Given the description of an element on the screen output the (x, y) to click on. 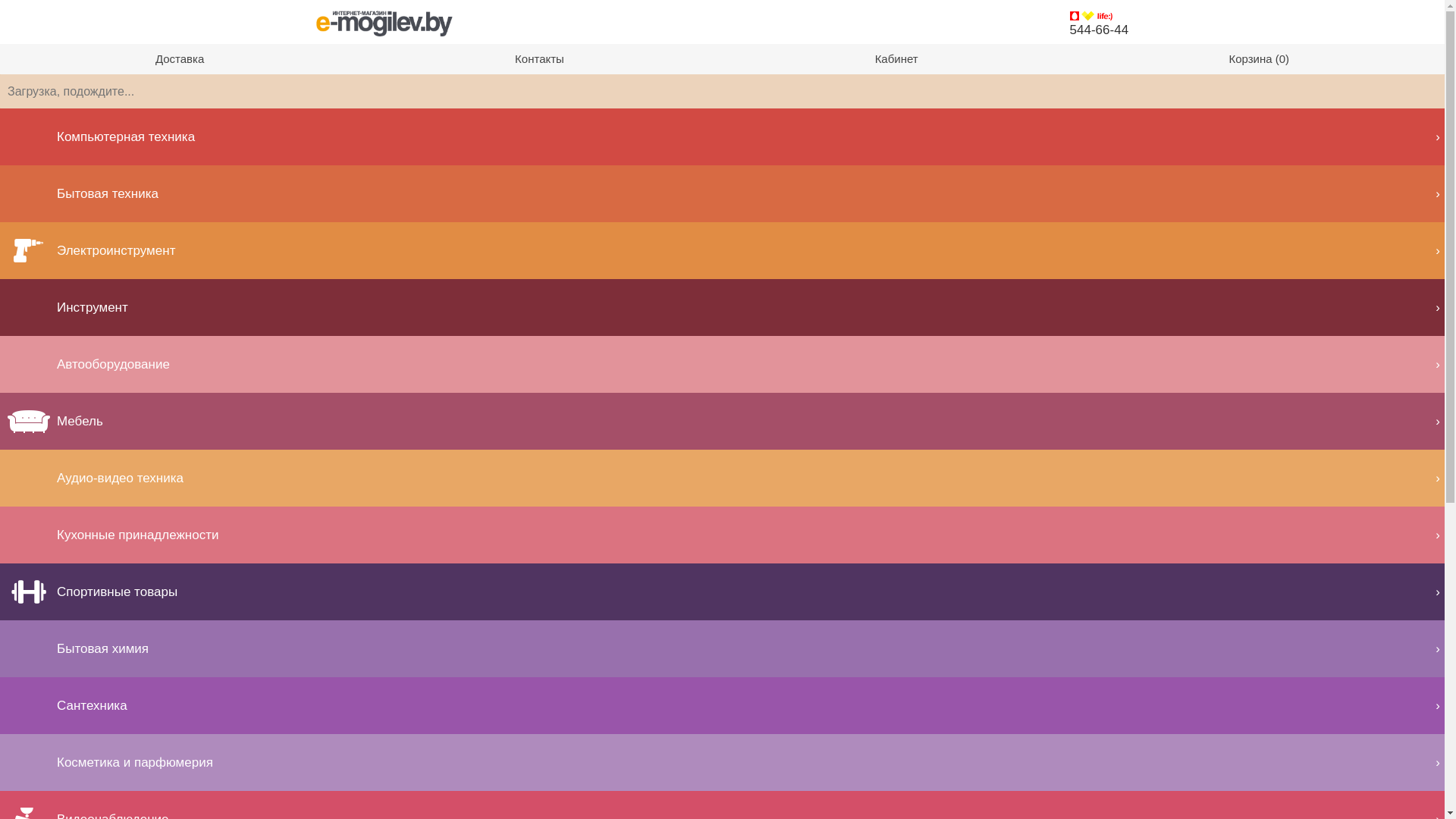
544-66-44 Element type: text (1099, 29)
